Given the description of an element on the screen output the (x, y) to click on. 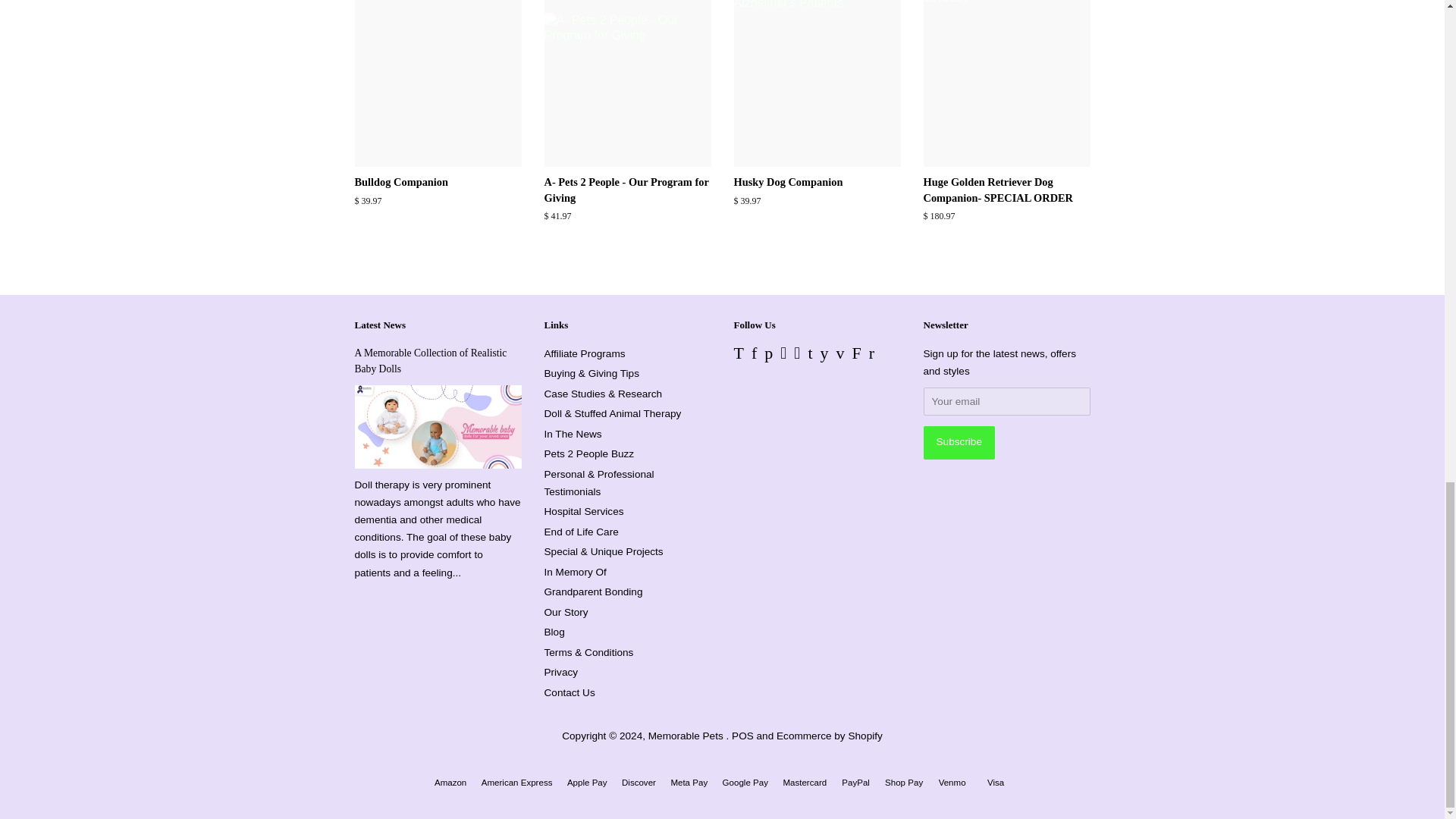
Subscribe (958, 442)
